Given the description of an element on the screen output the (x, y) to click on. 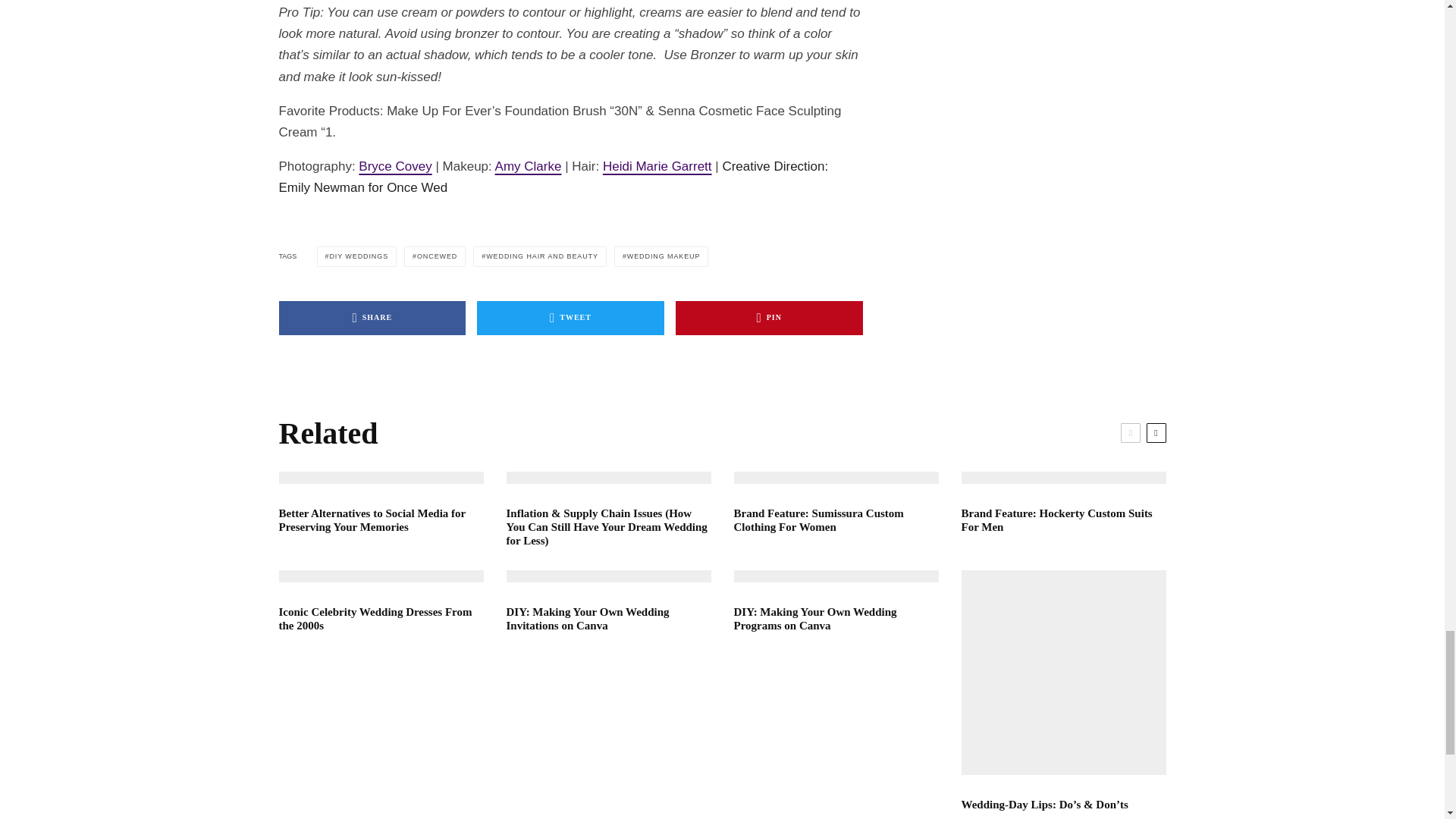
Amy Clarke (528, 165)
SHARE (372, 317)
WEDDING MAKEUP (661, 256)
ONCEWED (434, 256)
WEDDING HAIR AND BEAUTY (540, 256)
PIN (769, 317)
Heidi Marie Garrett (656, 165)
TWEET (570, 317)
DIY WEDDINGS (357, 256)
